Given the description of an element on the screen output the (x, y) to click on. 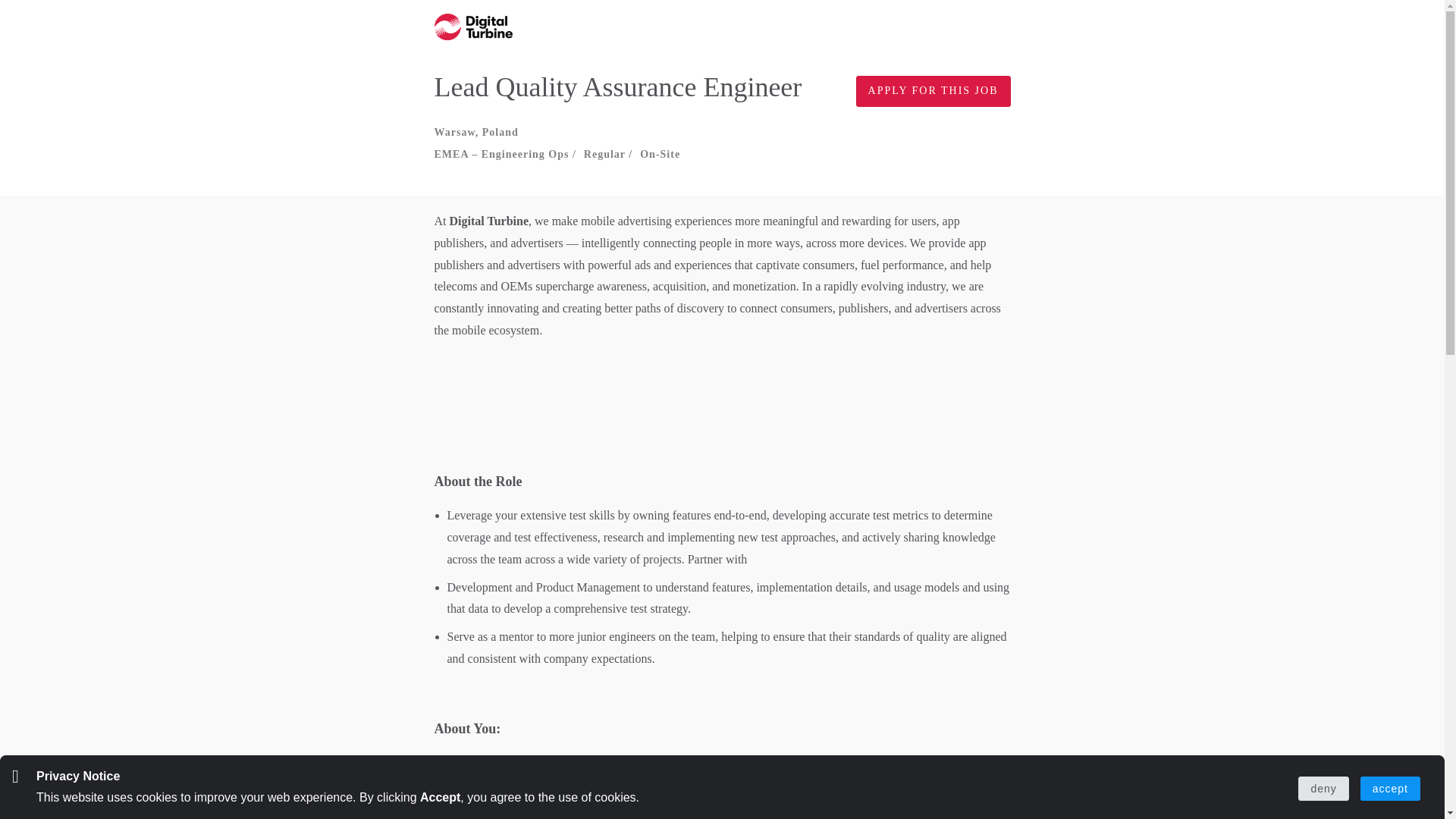
APPLY FOR THIS JOB (933, 91)
deny (1323, 788)
accept (1390, 788)
